Given the description of an element on the screen output the (x, y) to click on. 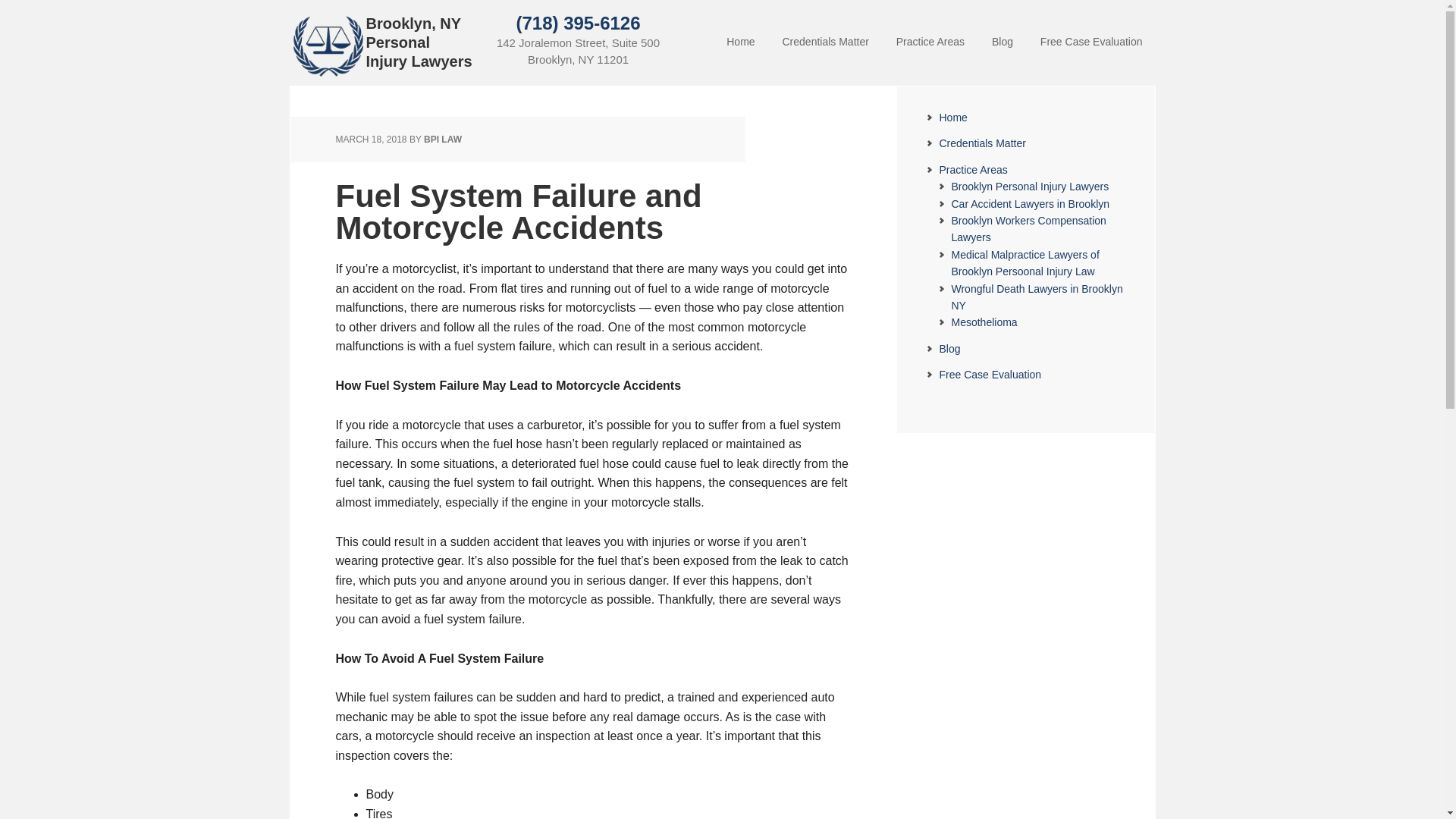
Home (952, 117)
Medical Malpractice Lawyers of Brooklyn Persoonal Injury Law (1024, 262)
Credentials Matter (825, 42)
Free Case Evaluation (990, 374)
Credentials Matter (982, 143)
Mesothelioma (983, 322)
Blog (949, 348)
Car Accident Lawyers in Brooklyn (1029, 203)
BPI LAW (442, 139)
Practice Areas (973, 169)
Brooklyn Personal Injury Lawyers (1029, 186)
h1 (327, 72)
Free Case Evaluation (1090, 42)
Practice Areas (929, 42)
Brooklyn Workers Compensation Lawyers (1027, 228)
